Given the description of an element on the screen output the (x, y) to click on. 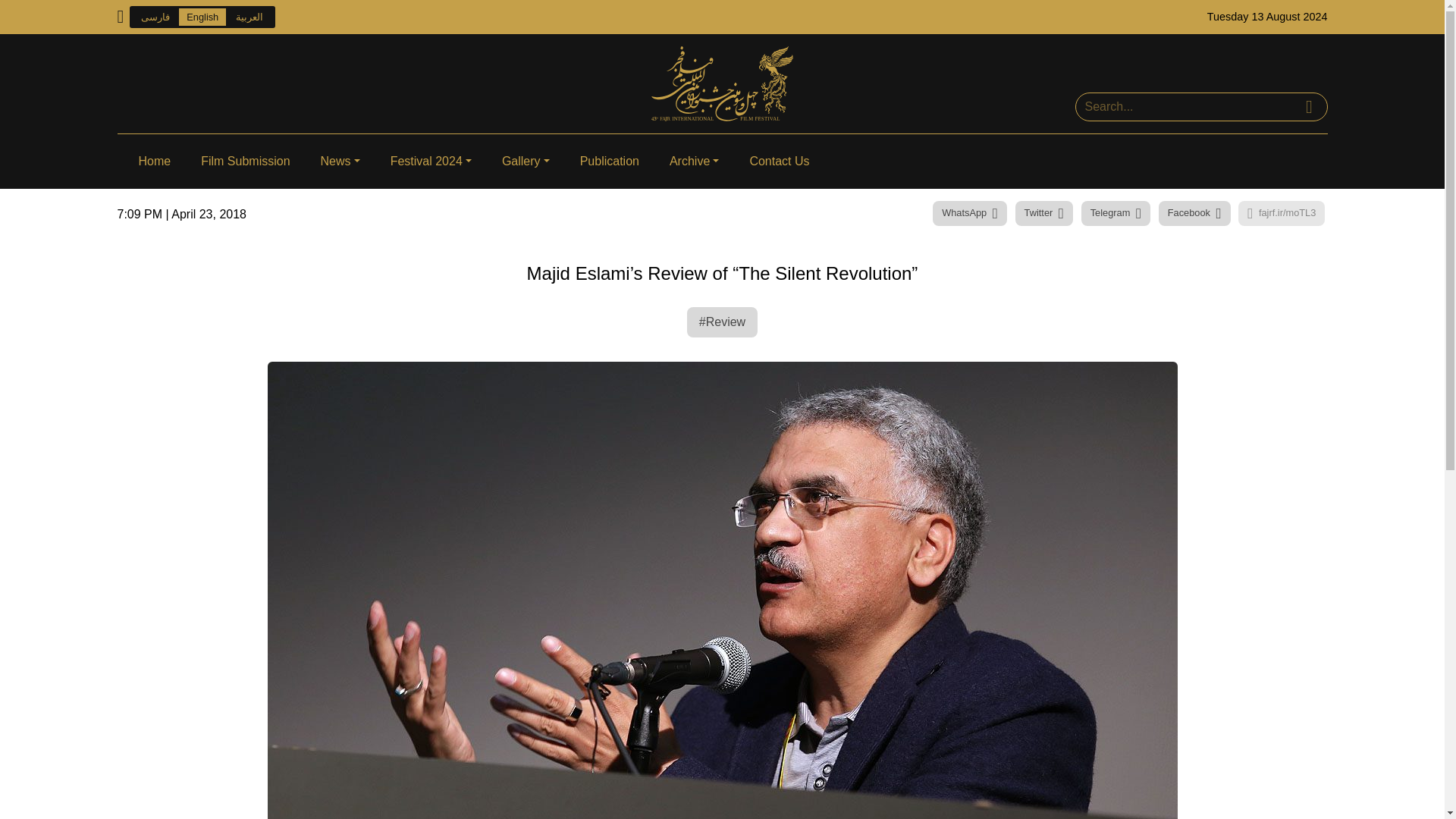
Review (722, 322)
Twitter (1043, 213)
WhatsApp (970, 213)
Film Submission (245, 161)
Festival 2024 (430, 161)
Fajr Film Festival (721, 83)
News (340, 161)
English (202, 16)
Home (154, 161)
Publication (608, 161)
